Given the description of an element on the screen output the (x, y) to click on. 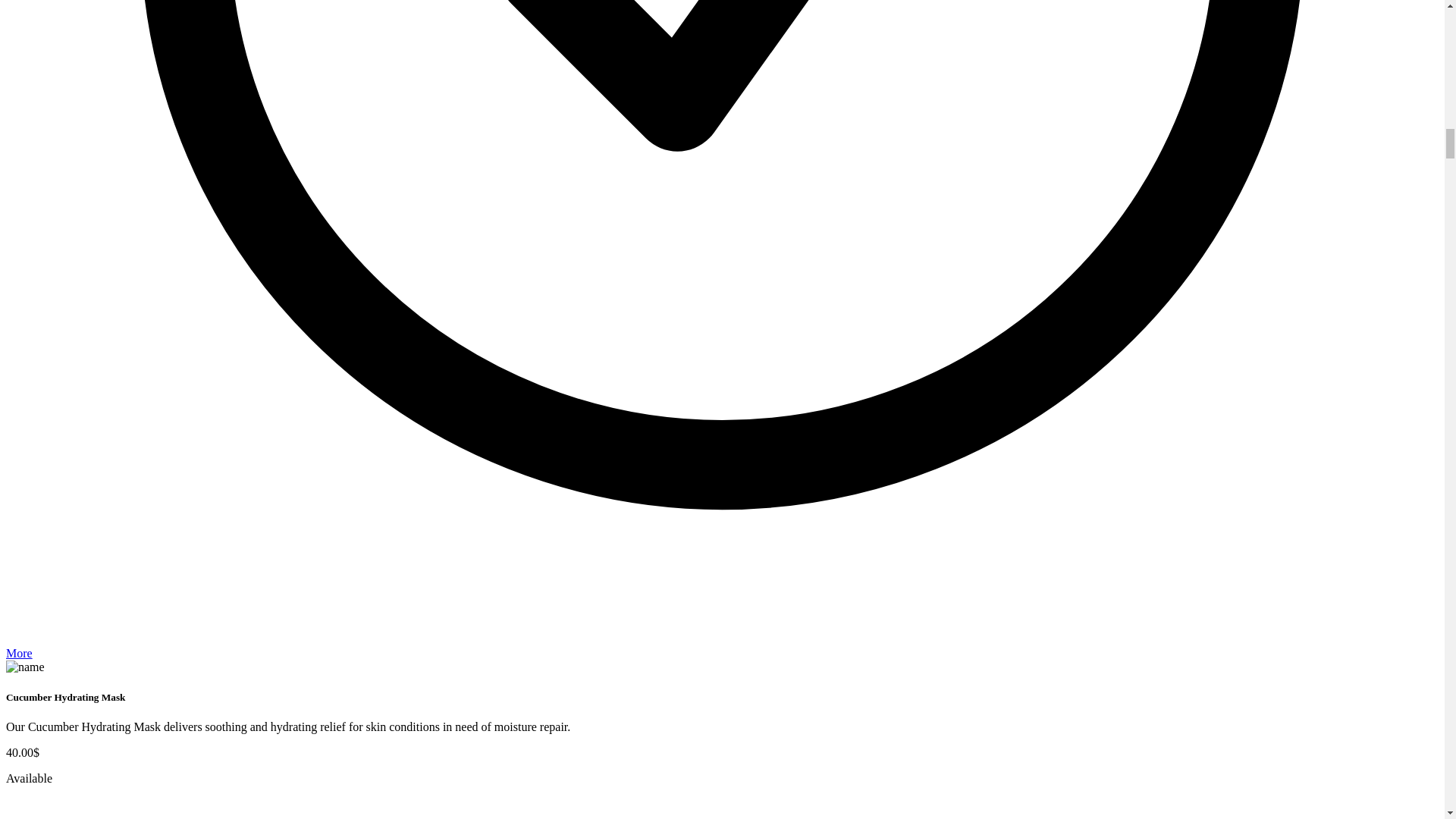
More (18, 653)
